Given the description of an element on the screen output the (x, y) to click on. 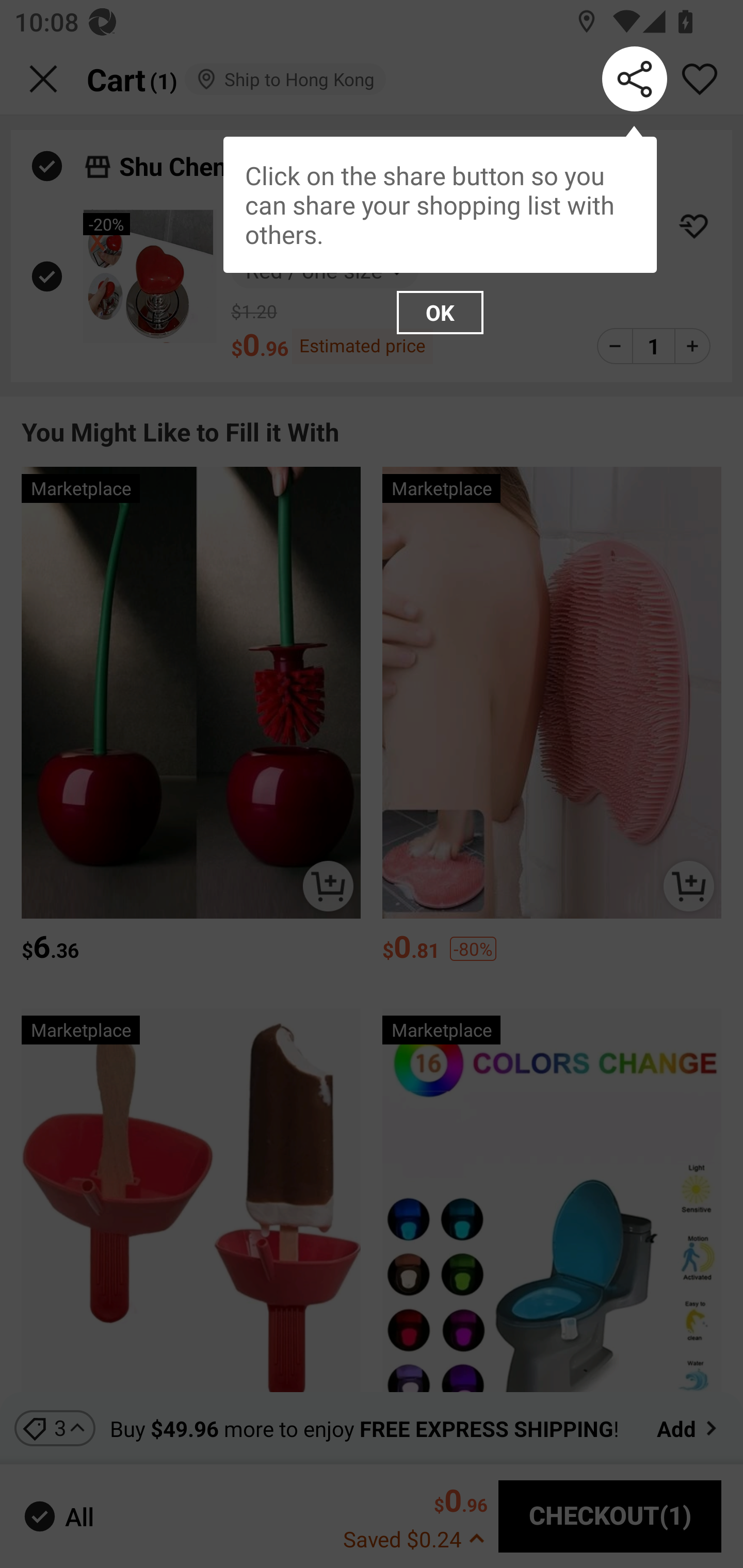
Share (634, 79)
OK (439, 312)
